Given the description of an element on the screen output the (x, y) to click on. 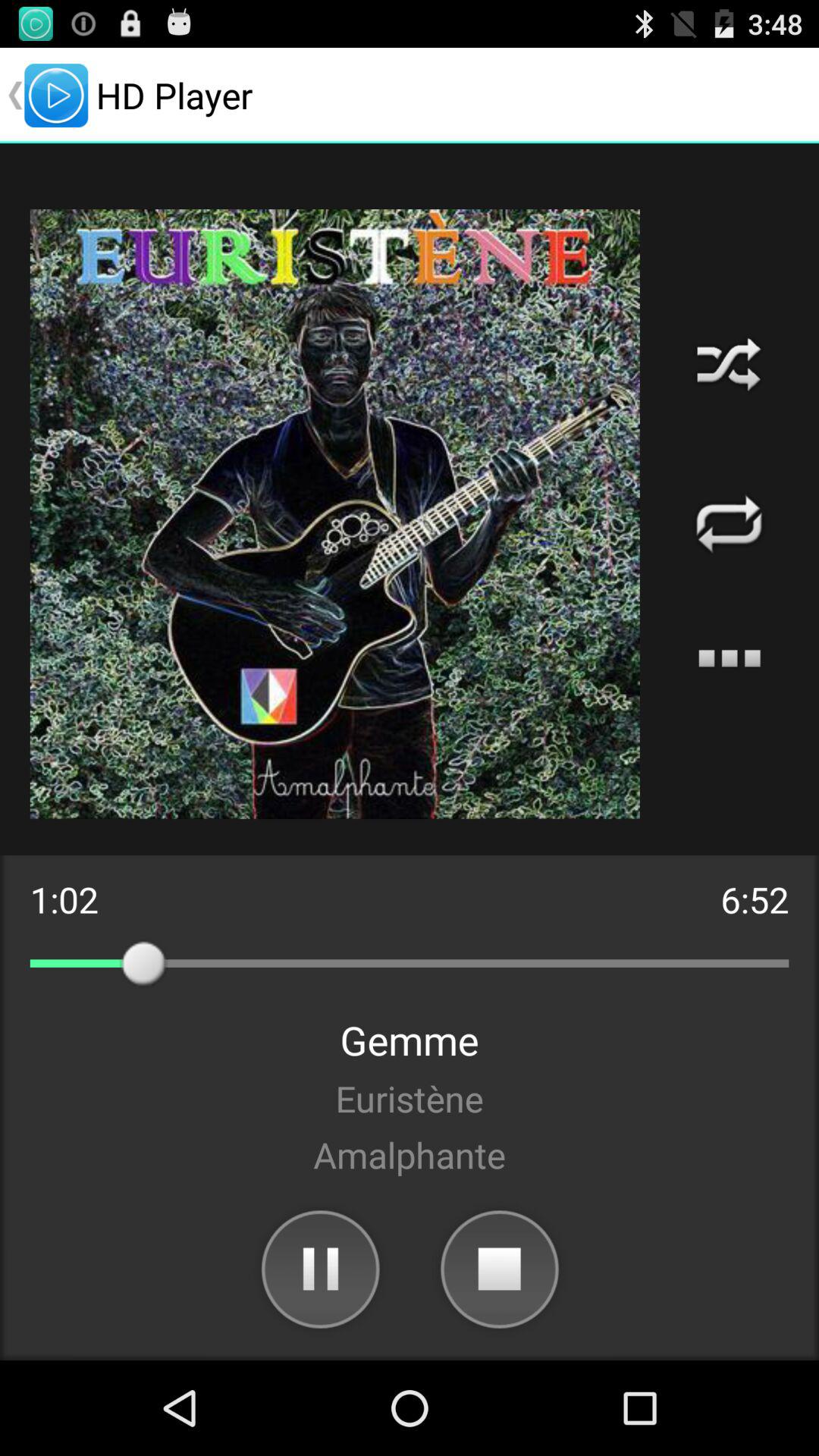
swipe to amalphante item (409, 1154)
